Given the description of an element on the screen output the (x, y) to click on. 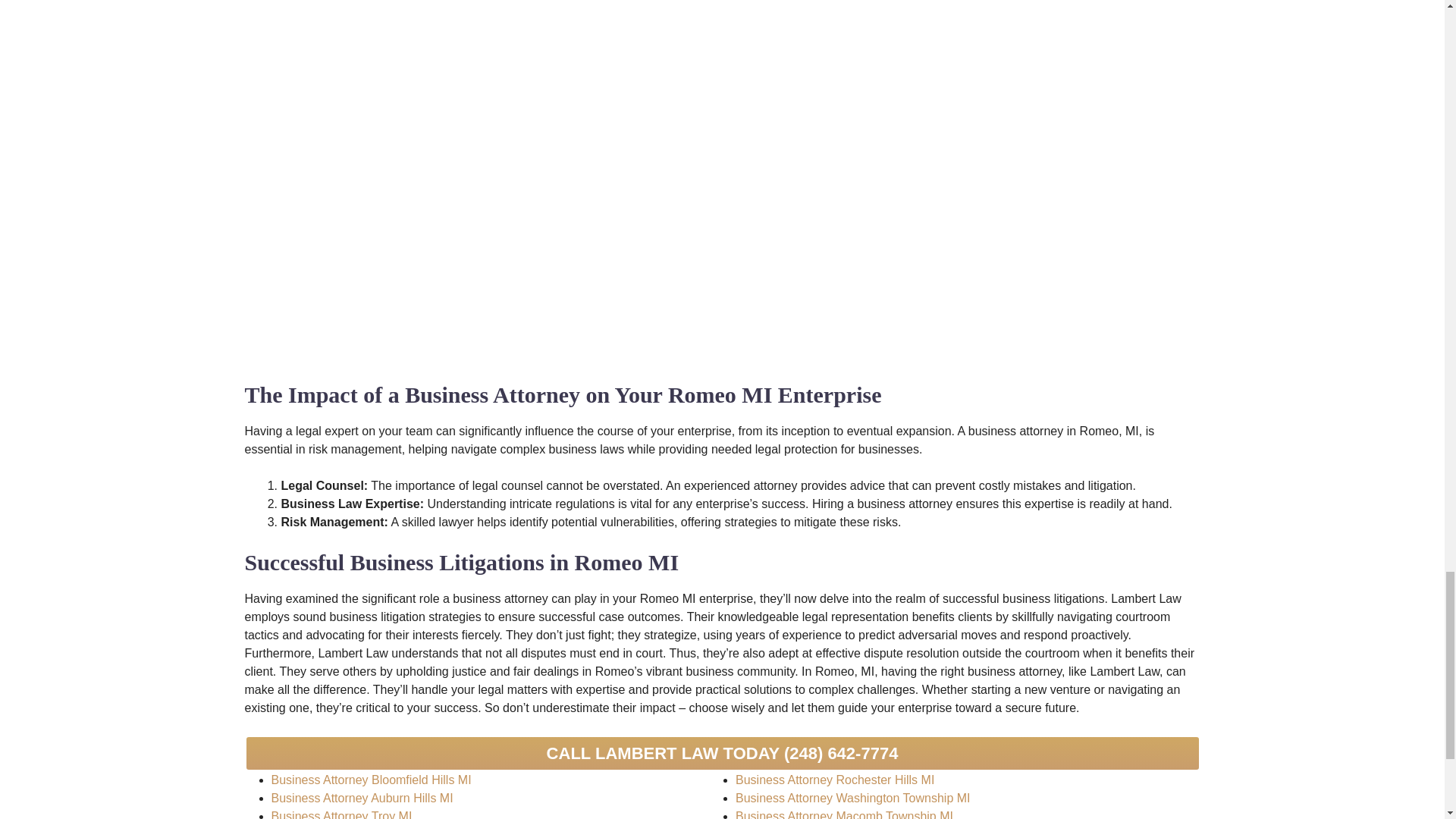
Business Attorney Macomb Township MI (844, 814)
Business Attorney Auburn Hills MI (361, 797)
Business Attorney Troy MI (341, 814)
Business Attorney Washington Township MI (853, 797)
Business Attorney Rochester Hills MI (834, 779)
Business Attorney Bloomfield Hills MI (370, 779)
